Given the description of an element on the screen output the (x, y) to click on. 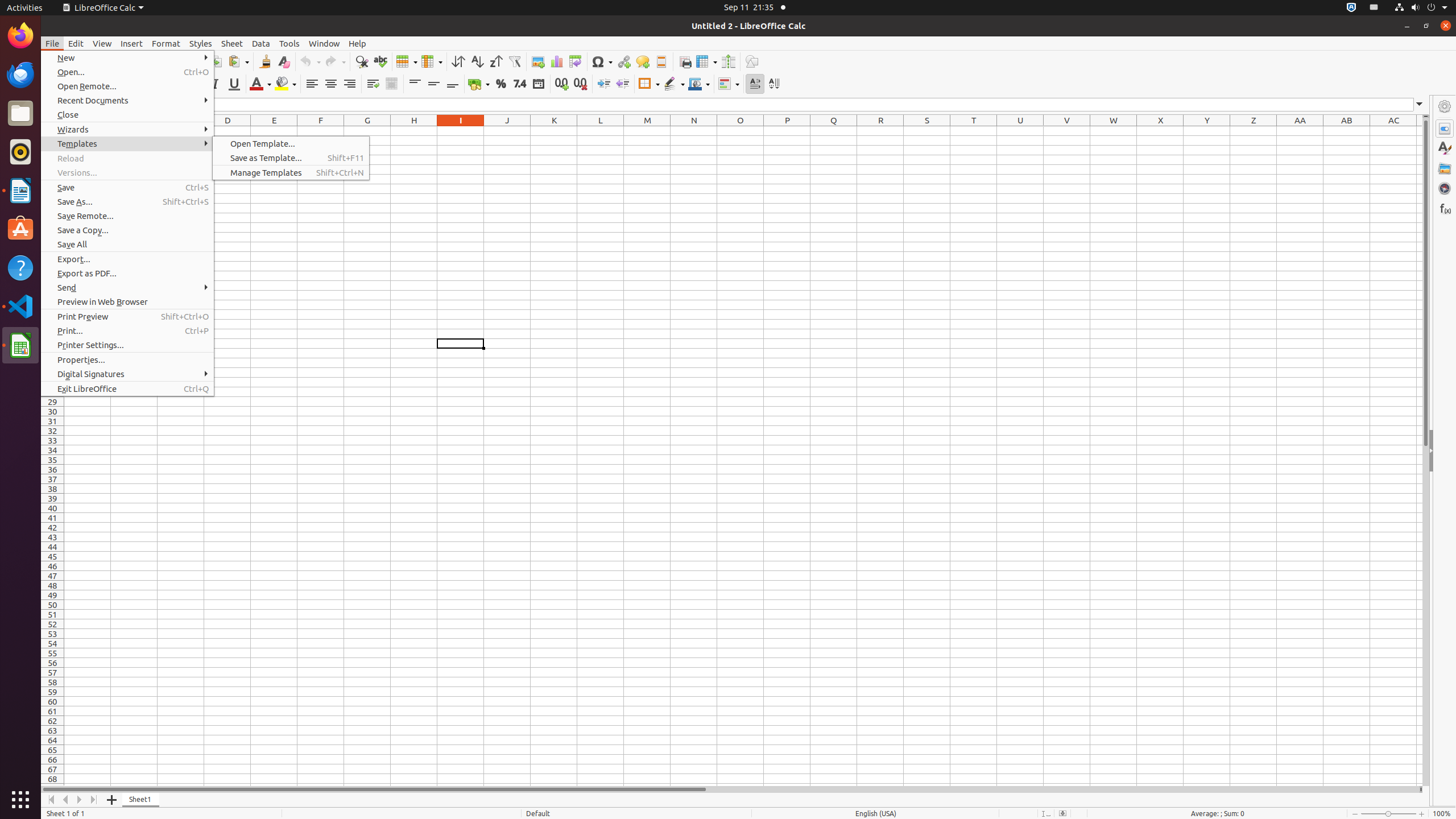
AutoFilter Element type: push-button (514, 61)
J1 Element type: table-cell (507, 130)
Close Element type: menu-item (126, 114)
Chart Element type: push-button (556, 61)
